Given the description of an element on the screen output the (x, y) to click on. 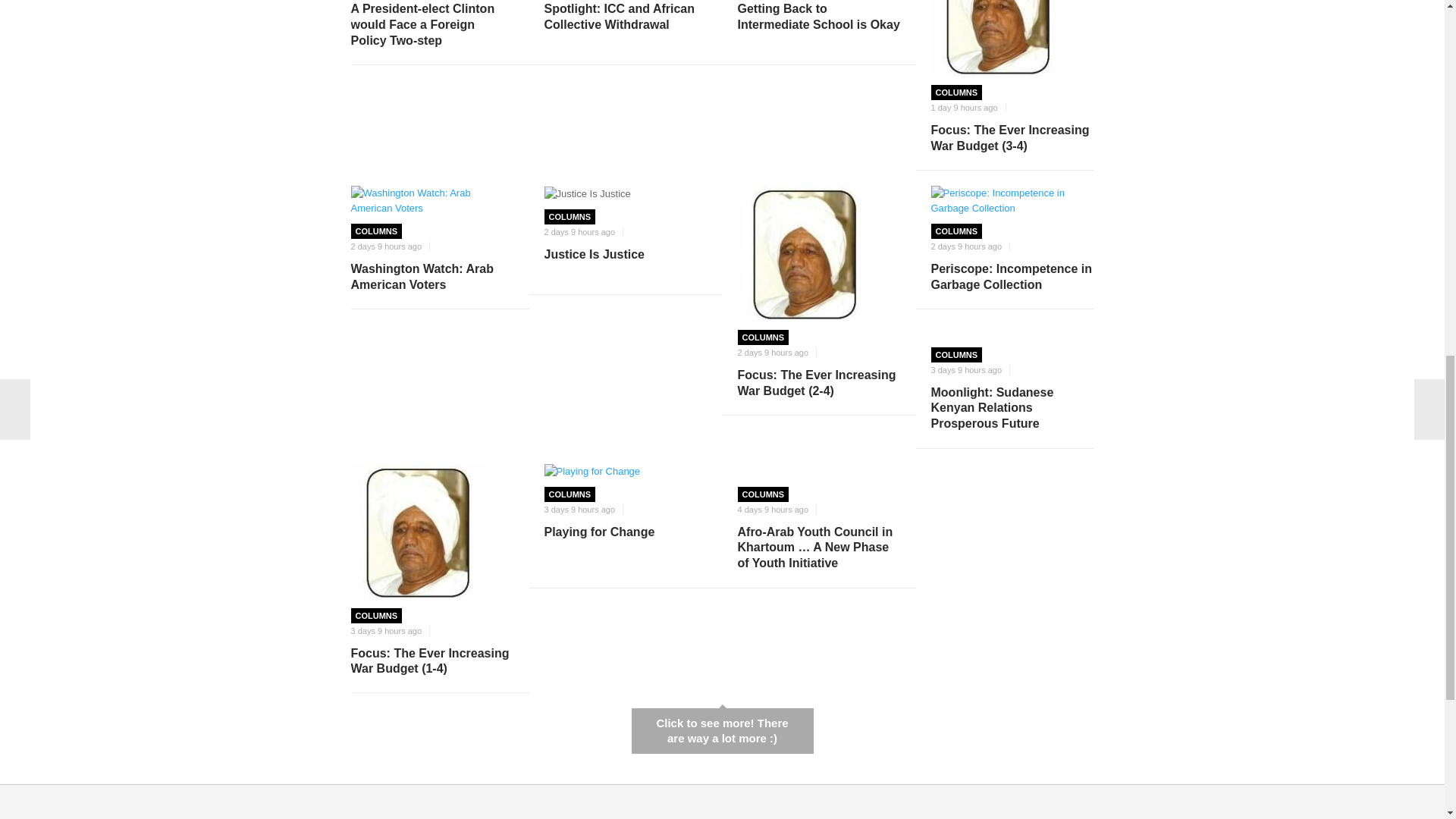
Justice Is Justice (587, 193)
Playing for Change (625, 471)
Periscope: Incompetence in Garbage Collection (1012, 200)
Playing for Change (592, 471)
Washington Watch: Arab American Voters (431, 200)
